Given the description of an element on the screen output the (x, y) to click on. 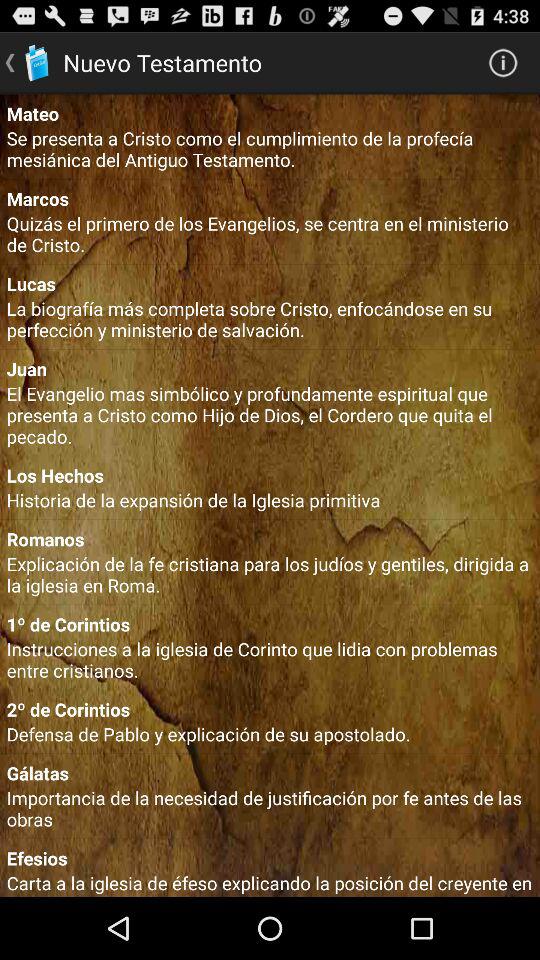
turn on item to the right of the nuevo testamento icon (503, 62)
